Given the description of an element on the screen output the (x, y) to click on. 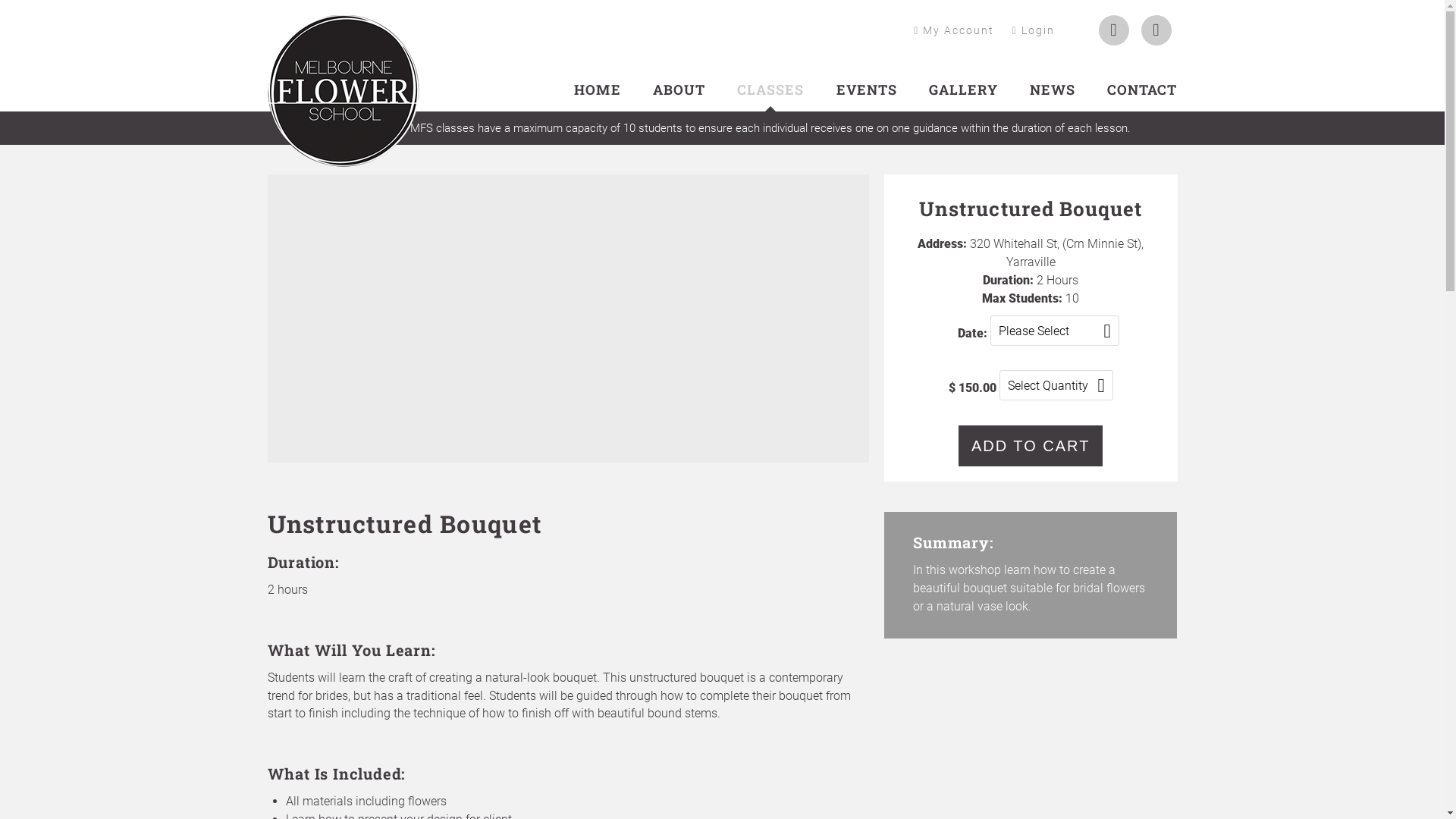
GALLERY Element type: text (962, 89)
Melbourne Flower School Element type: hover (342, 55)
EVENTS Element type: text (866, 89)
ABOUT Element type: text (678, 89)
My Account Element type: text (953, 30)
HOME Element type: text (597, 89)
NEWS Element type: text (1052, 89)
Login Element type: text (1032, 30)
CLASSES Element type: text (770, 89)
CONTACT Element type: text (1142, 89)
